Given the description of an element on the screen output the (x, y) to click on. 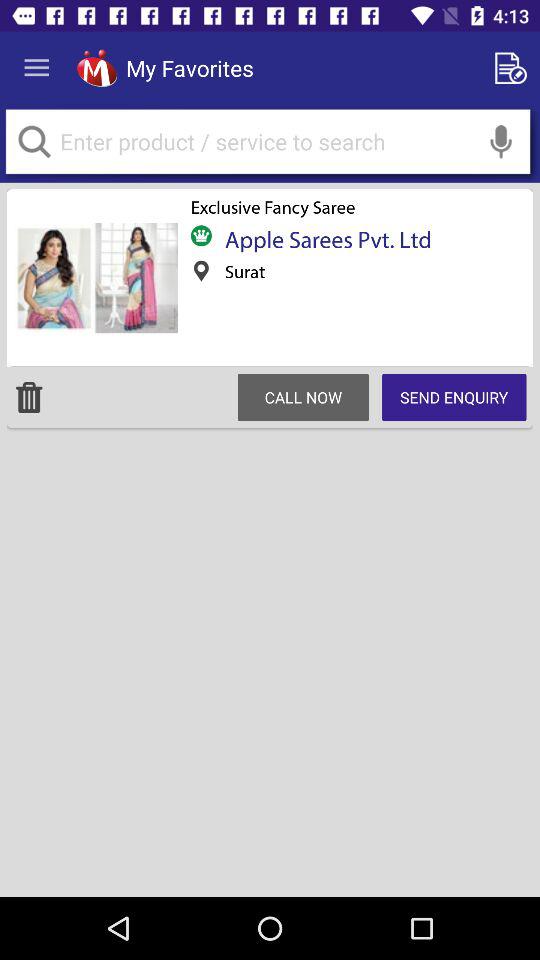
launch icon to the left of call now item (29, 397)
